Given the description of an element on the screen output the (x, y) to click on. 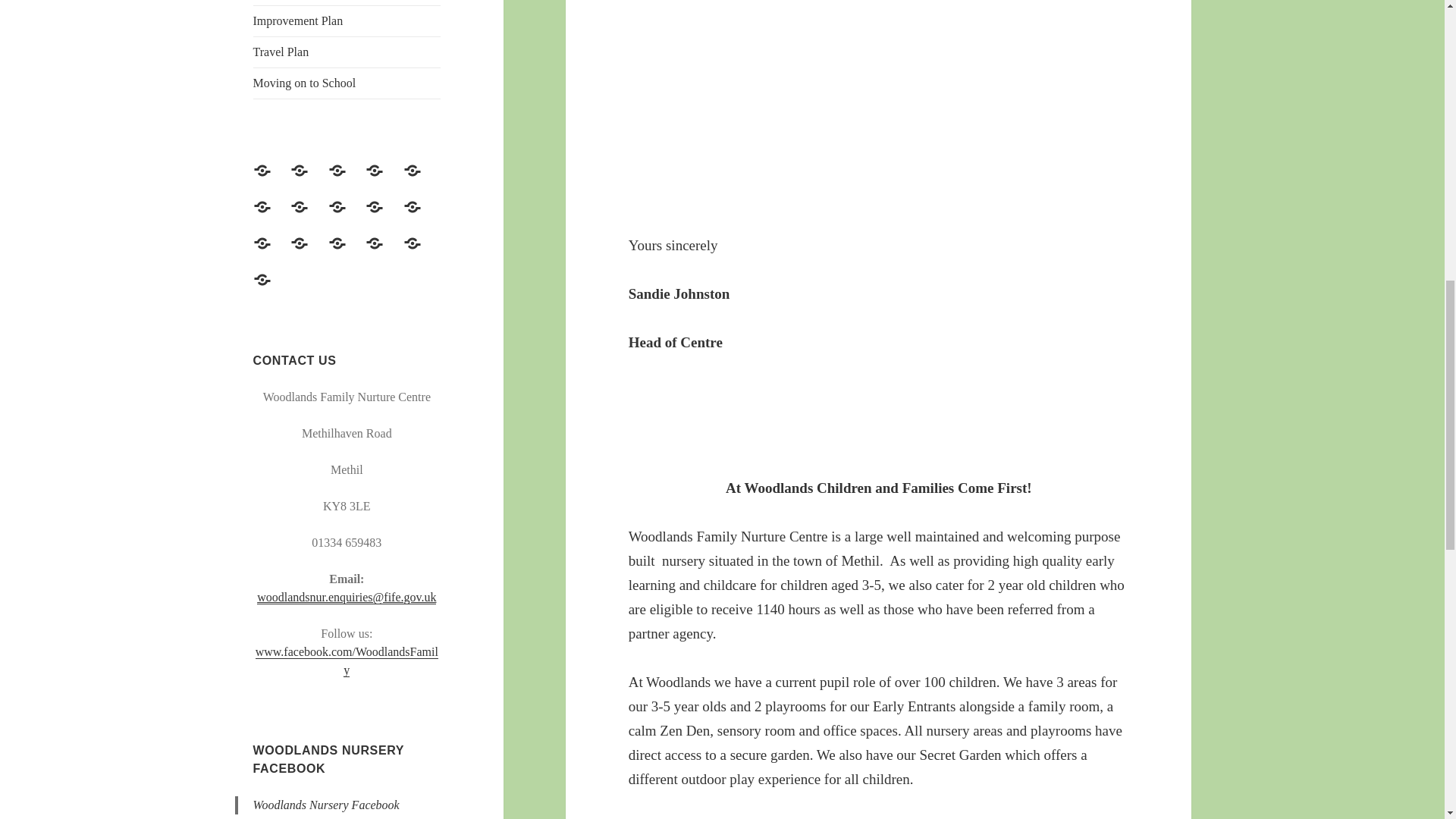
Staff (347, 216)
Moving on to School (271, 289)
Child Protection and Wellbeing (307, 216)
Woodlands Nursery Facebook (325, 804)
Nursery Ethos (347, 179)
Nursery Newsletters (347, 252)
WOODLANDS NURSERY FACEBOOK (328, 758)
Travel Plan (421, 252)
Home (271, 179)
Nursery Information (383, 179)
